Given the description of an element on the screen output the (x, y) to click on. 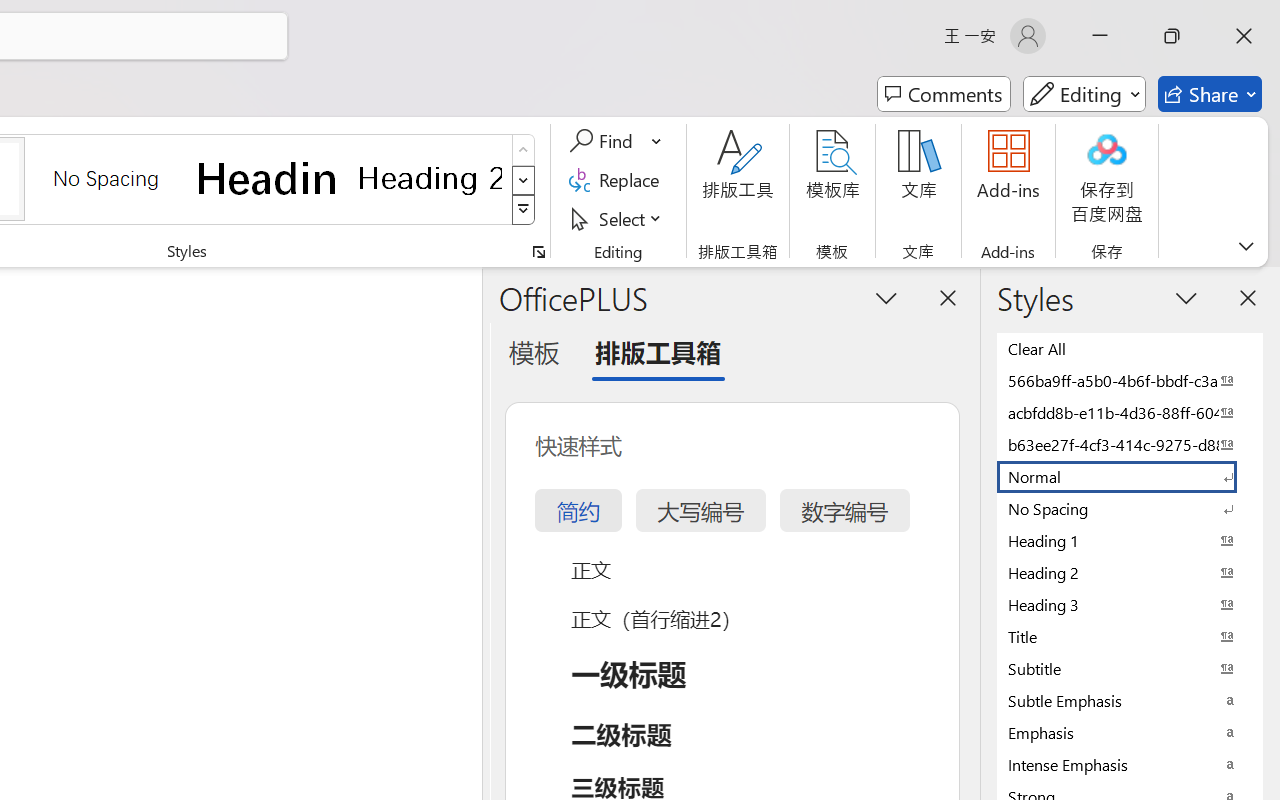
Minimize (1099, 36)
Heading 3 (1130, 604)
b63ee27f-4cf3-414c-9275-d88e3f90795e (1130, 444)
Replace... (617, 179)
Row Down (523, 180)
Intense Emphasis (1130, 764)
No Spacing (1130, 508)
